Given the description of an element on the screen output the (x, y) to click on. 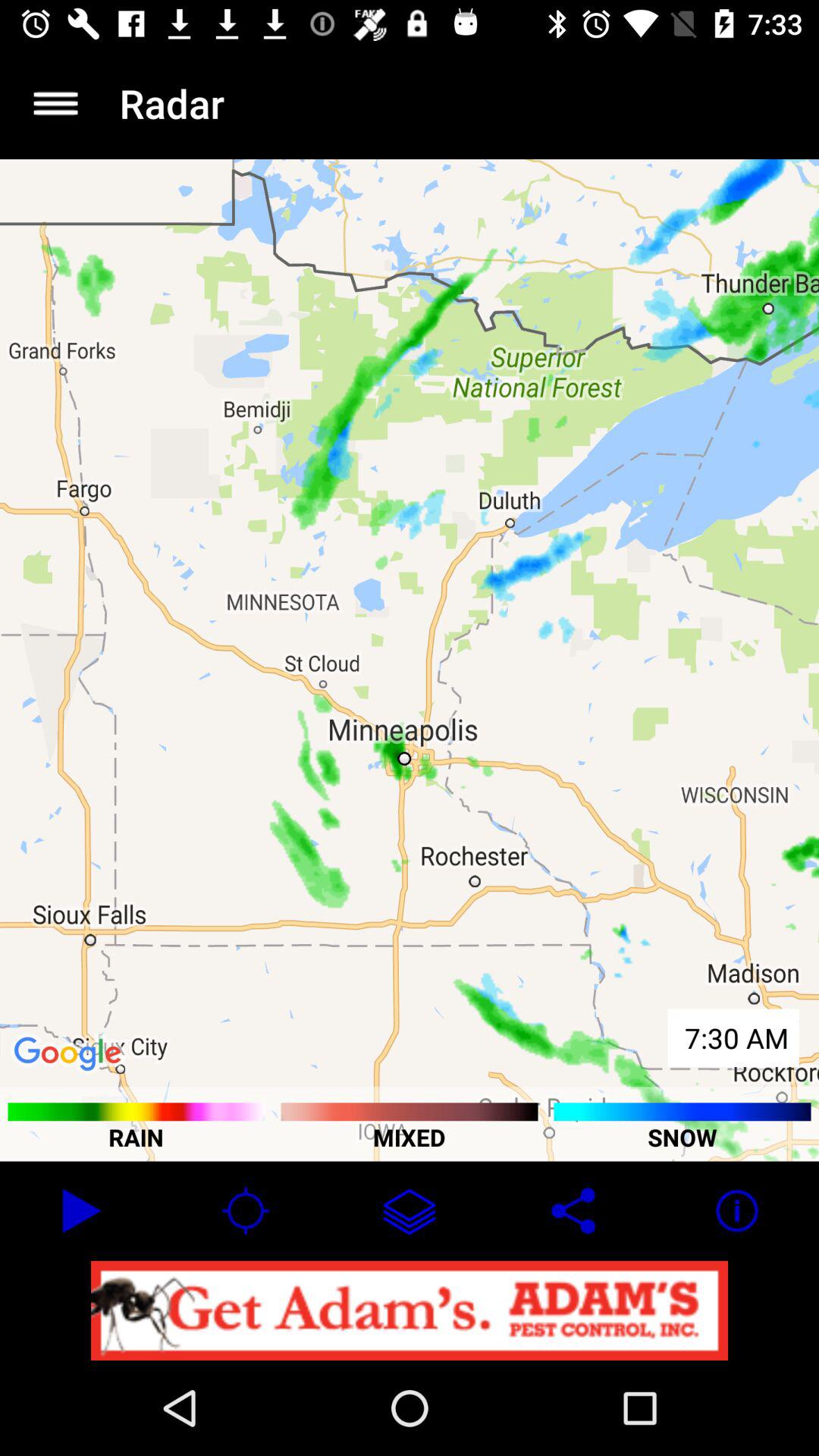
open app to the left of the radar item (55, 103)
